Given the description of an element on the screen output the (x, y) to click on. 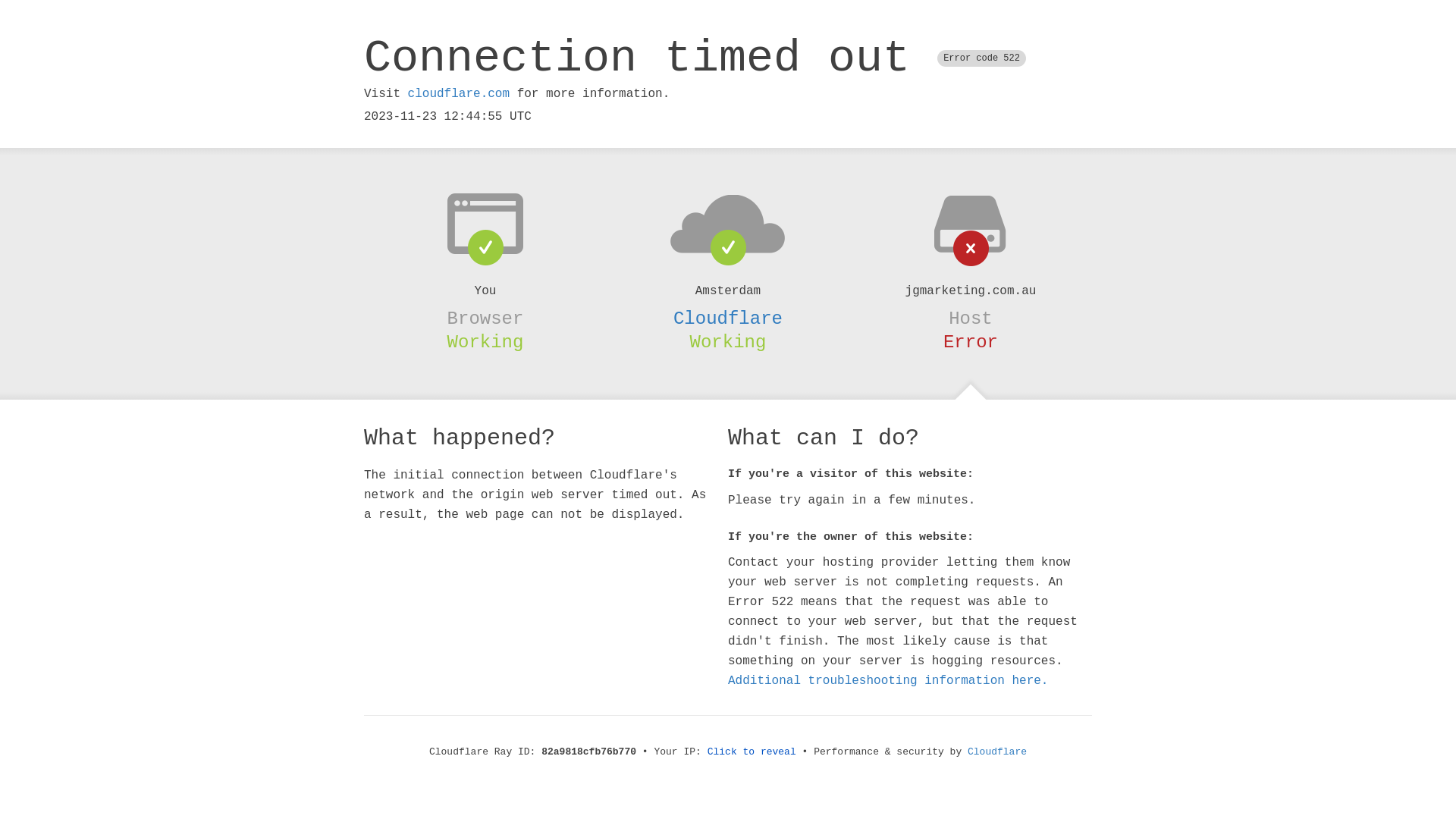
cloudflare.com Element type: text (458, 93)
Cloudflare Element type: text (727, 318)
Cloudflare Element type: text (996, 751)
Click to reveal Element type: text (751, 751)
Additional troubleshooting information here. Element type: text (888, 680)
